Given the description of an element on the screen output the (x, y) to click on. 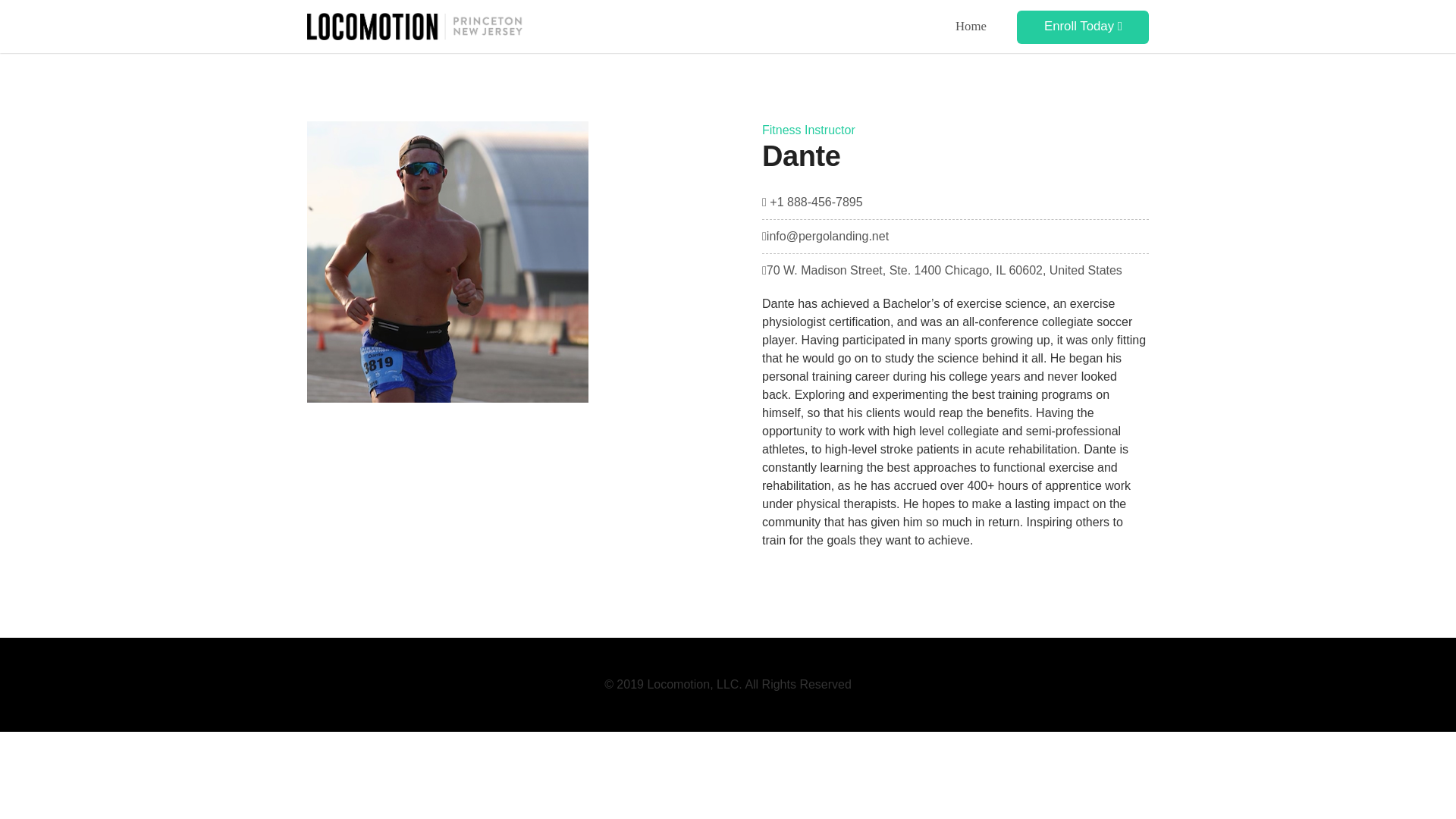
Enroll Today (1082, 27)
Home (970, 26)
Phone number (812, 201)
Email Address (824, 236)
Address (941, 269)
